Given the description of an element on the screen output the (x, y) to click on. 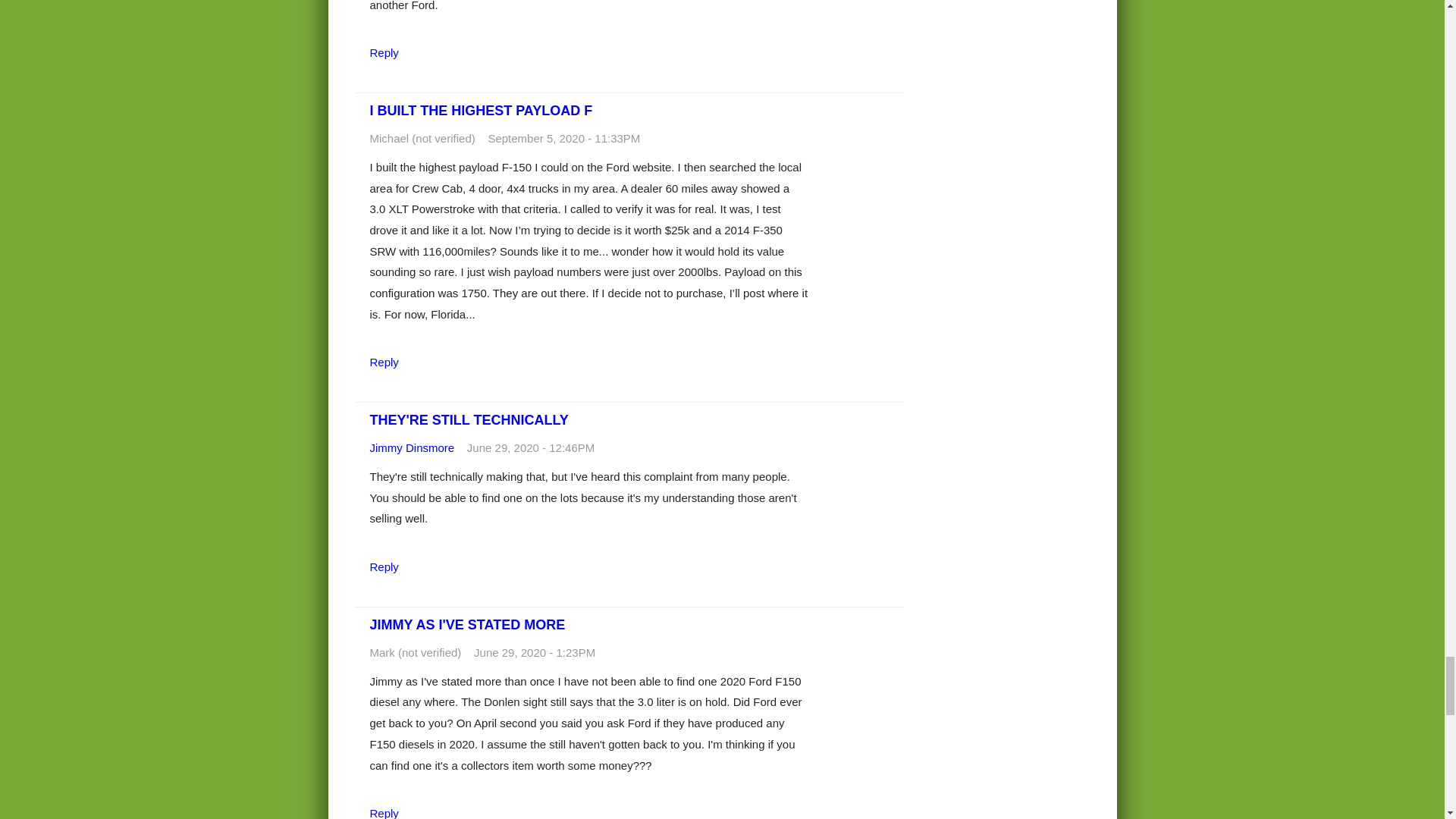
View user profile. (411, 447)
